Given the description of an element on the screen output the (x, y) to click on. 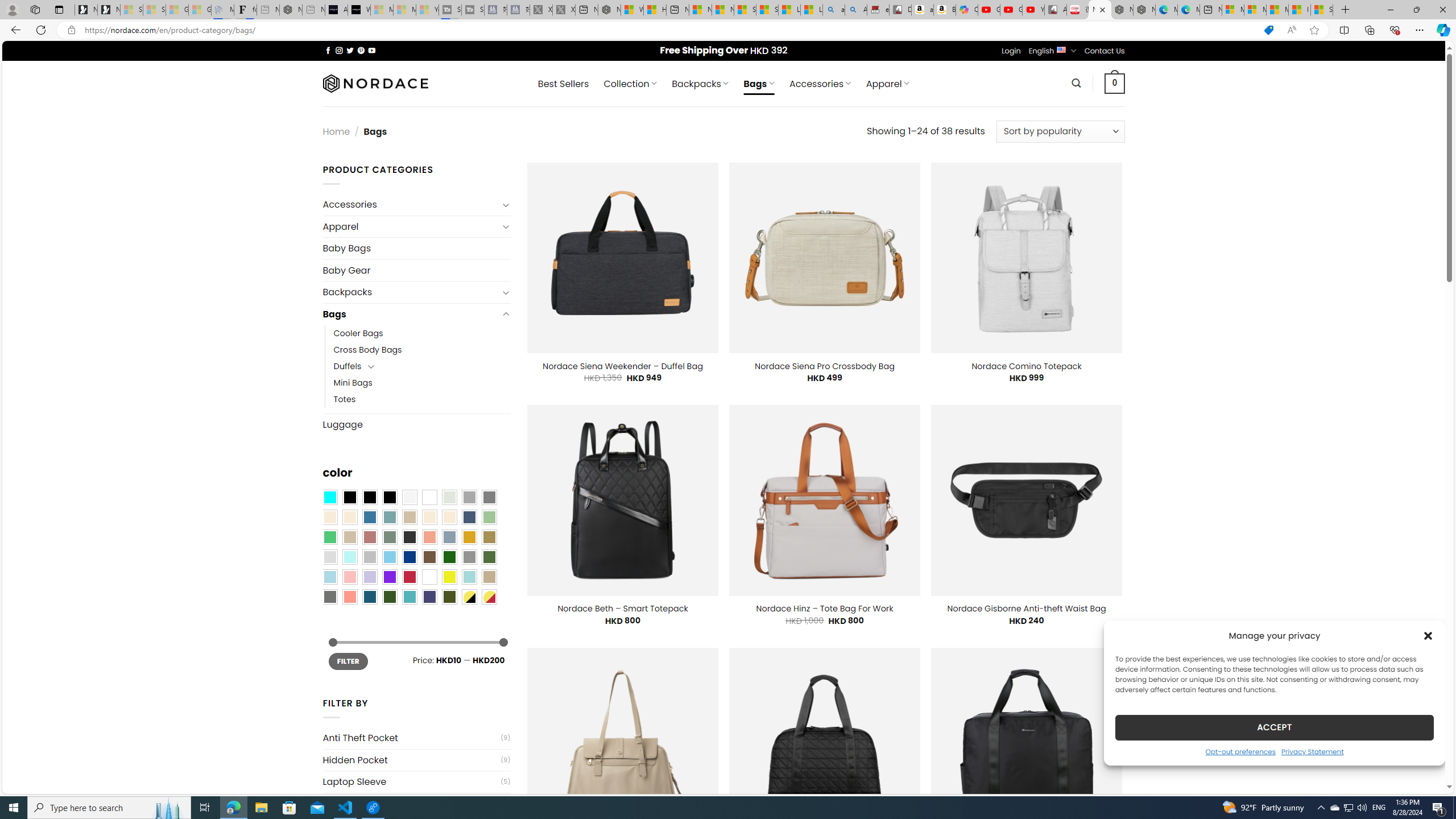
I Gained 20 Pounds of Muscle in 30 Days! | Watch (1300, 9)
Follow on Twitter (349, 49)
Khaki (488, 577)
Black-Brown (389, 497)
Nordace Gisborne Anti-theft Waist Bag (1026, 608)
Newsletter Sign Up (109, 9)
Cross Body Bags (367, 349)
Pink (349, 577)
Backpacks (410, 292)
